Given the description of an element on the screen output the (x, y) to click on. 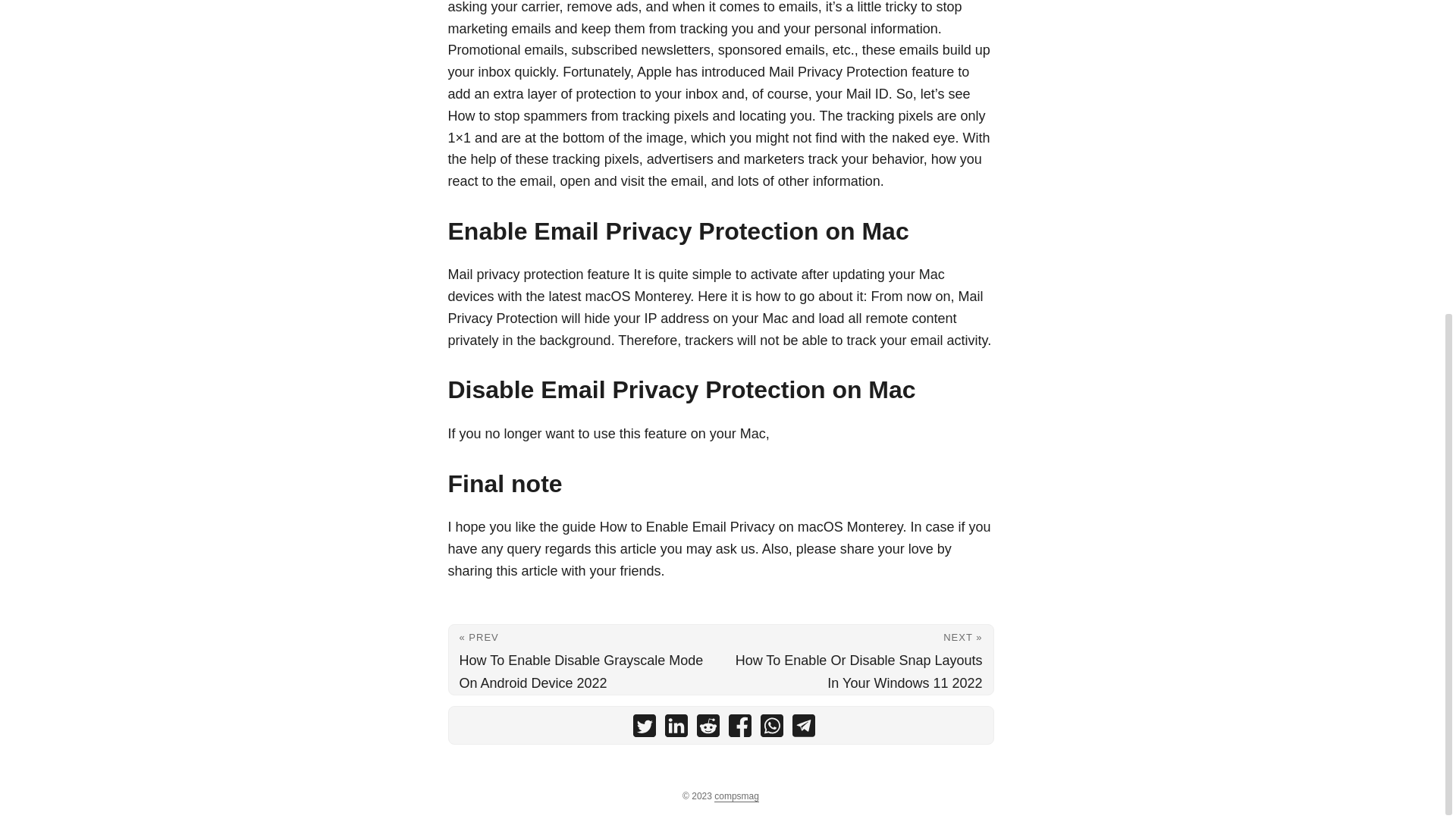
compsmag (736, 796)
